Given the description of an element on the screen output the (x, y) to click on. 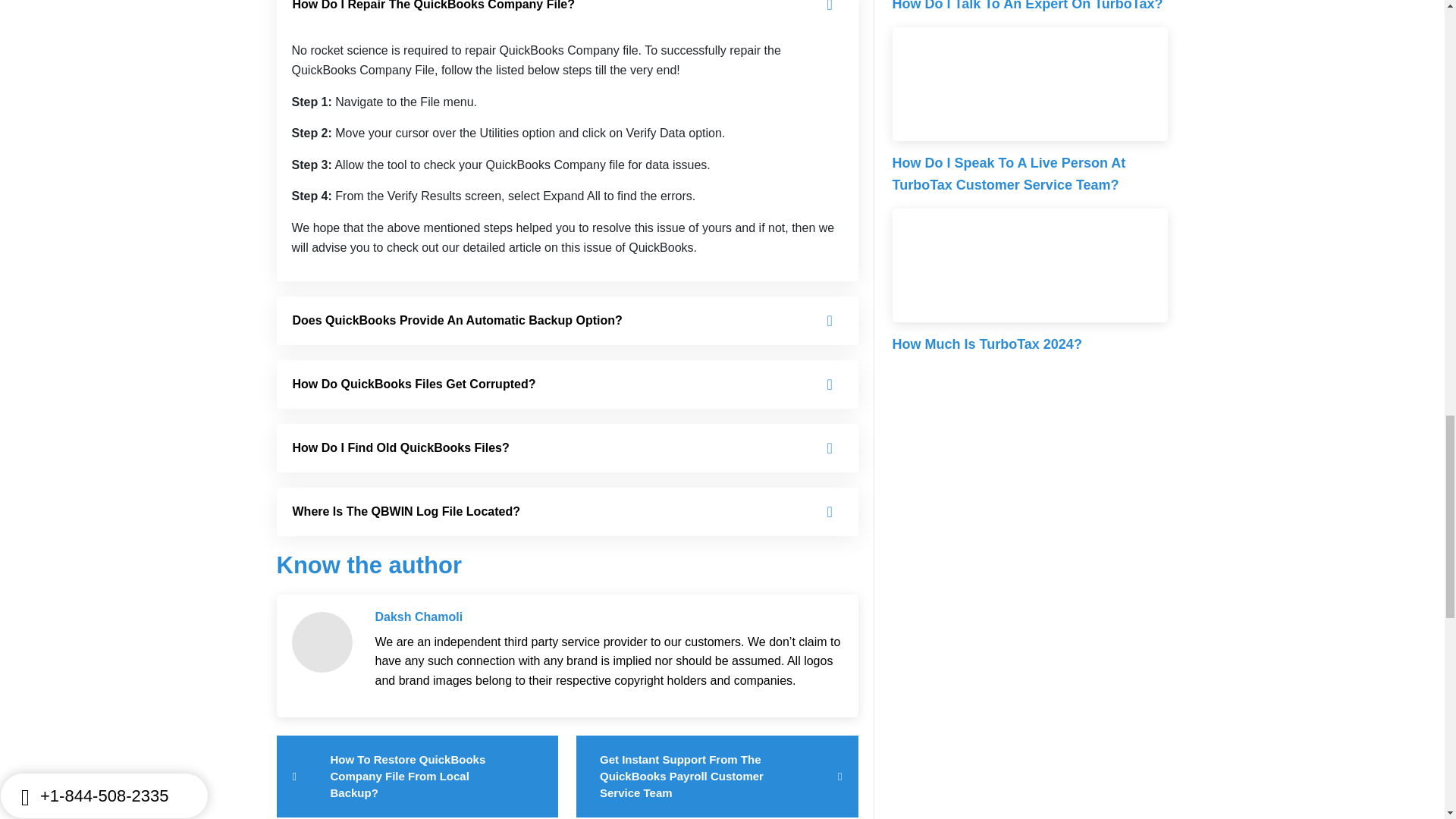
How Do I Repair The QuickBooks Company File? (566, 14)
How Do QuickBooks Files Get Corrupted? (566, 384)
Does QuickBooks Provide An Automatic Backup Option? (566, 320)
